Given the description of an element on the screen output the (x, y) to click on. 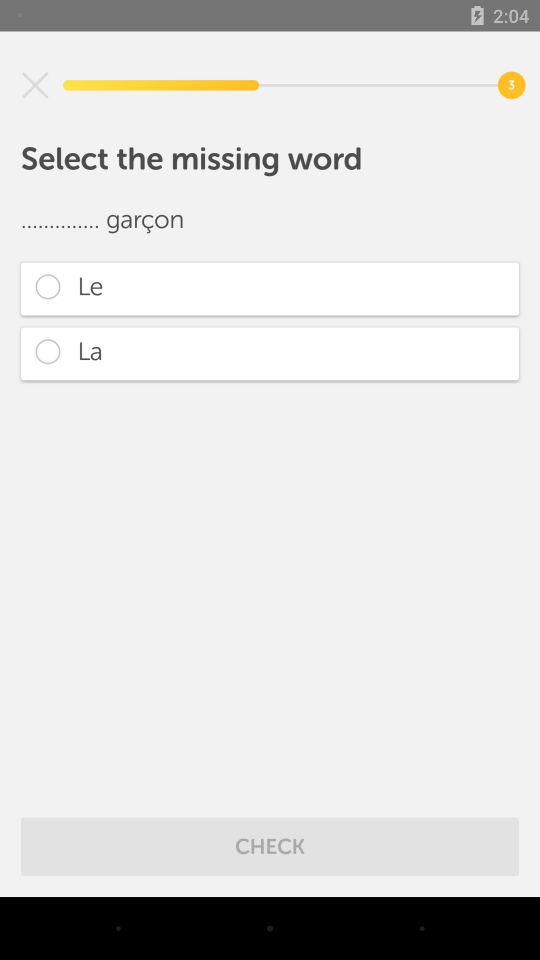
turn on the icon above la item (270, 288)
